Given the description of an element on the screen output the (x, y) to click on. 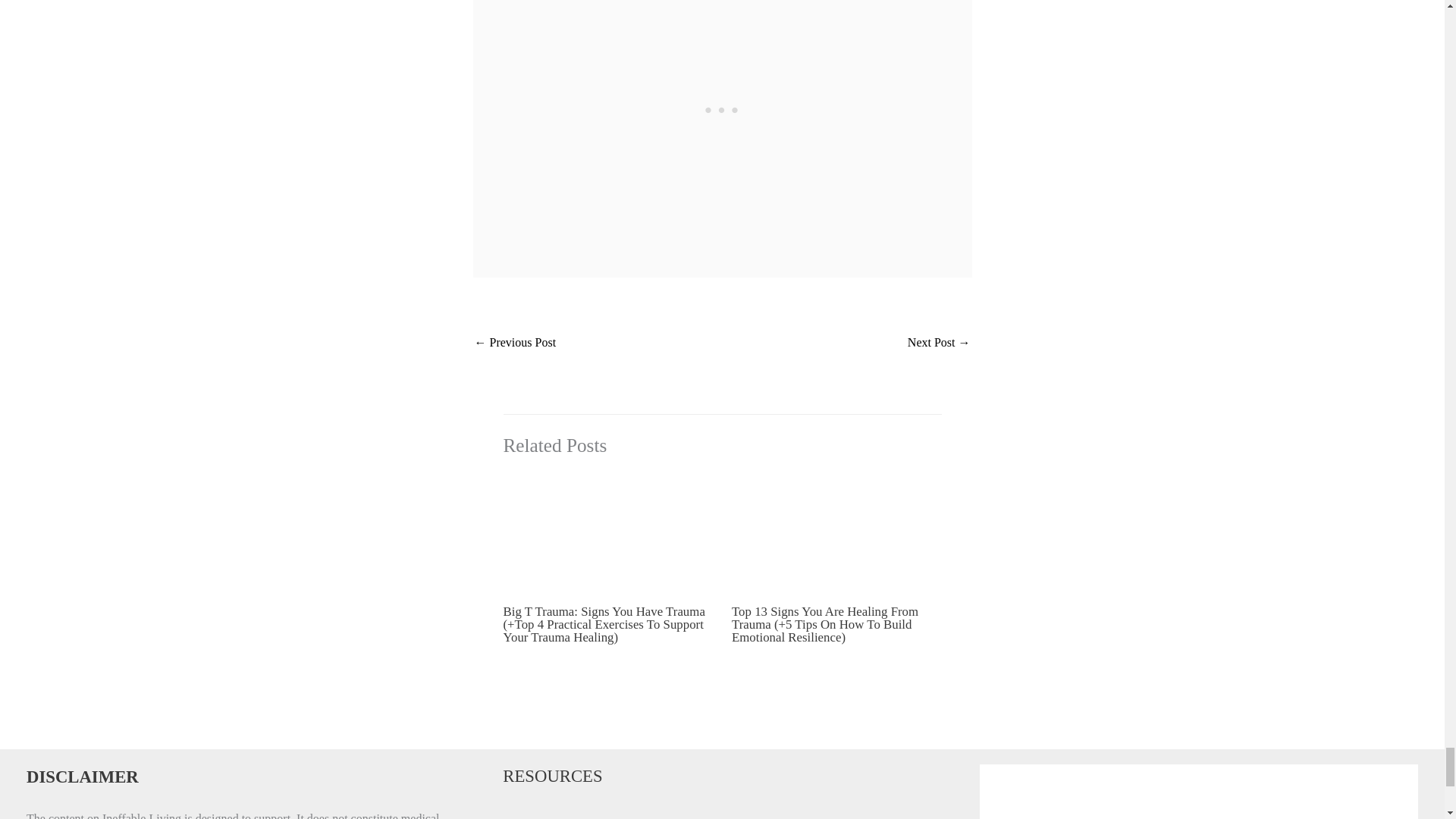
Best 50 Couples Therapy Questions For Your Next Session (515, 343)
Best 10 Books About Self Harm (939, 343)
